Given the description of an element on the screen output the (x, y) to click on. 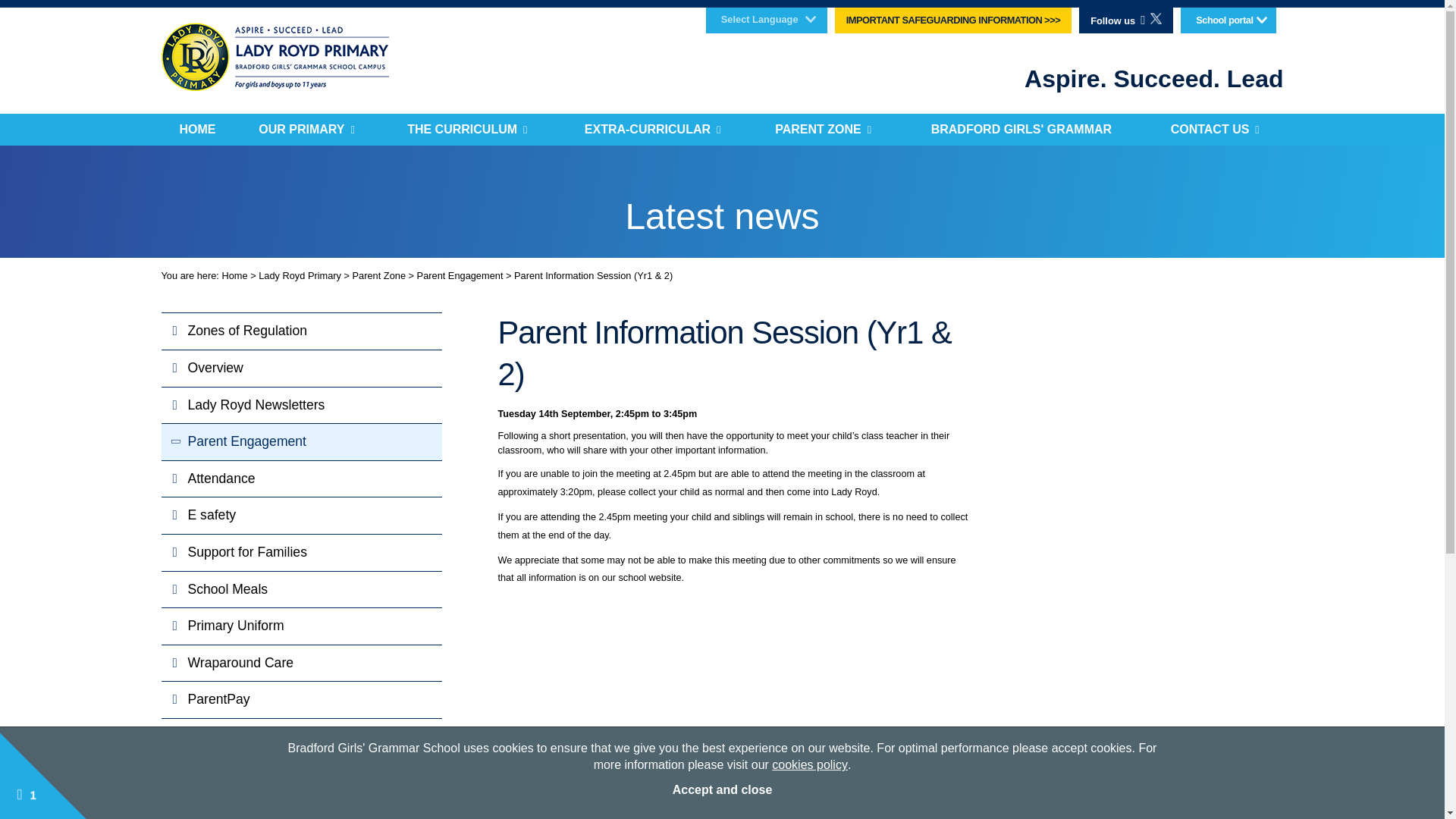
EXTRA-CURRICULAR (651, 129)
PARENT ZONE (822, 129)
OUR PRIMARY (305, 129)
HOME (196, 129)
THE CURRICULUM (467, 129)
School portal (1227, 20)
